Given the description of an element on the screen output the (x, y) to click on. 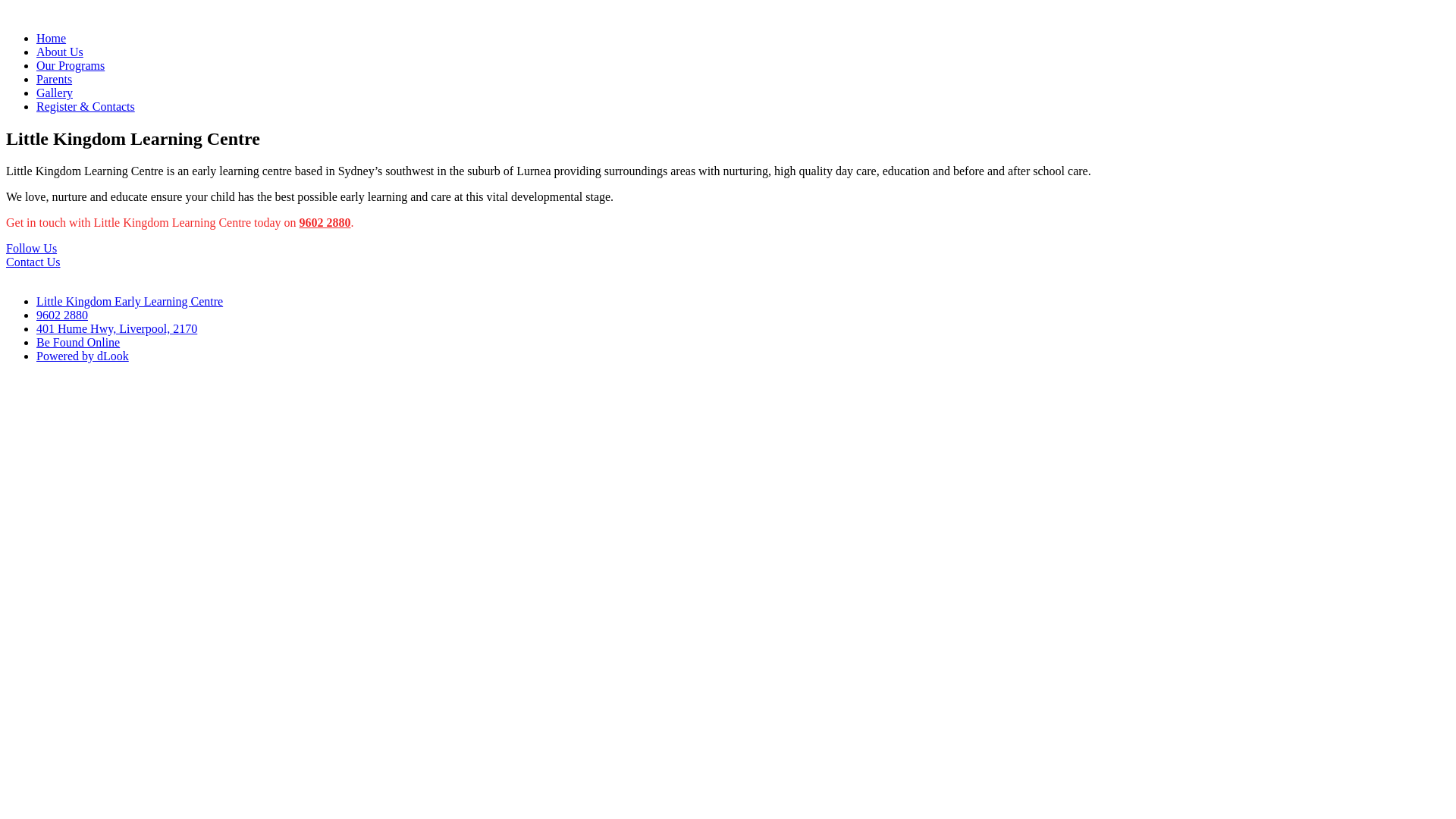
Parents Element type: text (54, 78)
Register & Contacts Element type: text (85, 106)
Be Found Online Element type: text (77, 341)
Little Kingdom Early Learning Centre Element type: text (129, 300)
Follow Us Element type: text (31, 247)
401 Hume Hwy, Liverpool, 2170 Element type: text (116, 328)
Our Programs Element type: text (70, 65)
Home Element type: text (50, 37)
9602 2880 Element type: text (61, 314)
Gallery Element type: text (54, 92)
9602 2880 Element type: text (325, 222)
Contact Us Element type: text (33, 261)
About Us Element type: text (59, 51)
Powered by dLook Element type: text (82, 355)
